Given the description of an element on the screen output the (x, y) to click on. 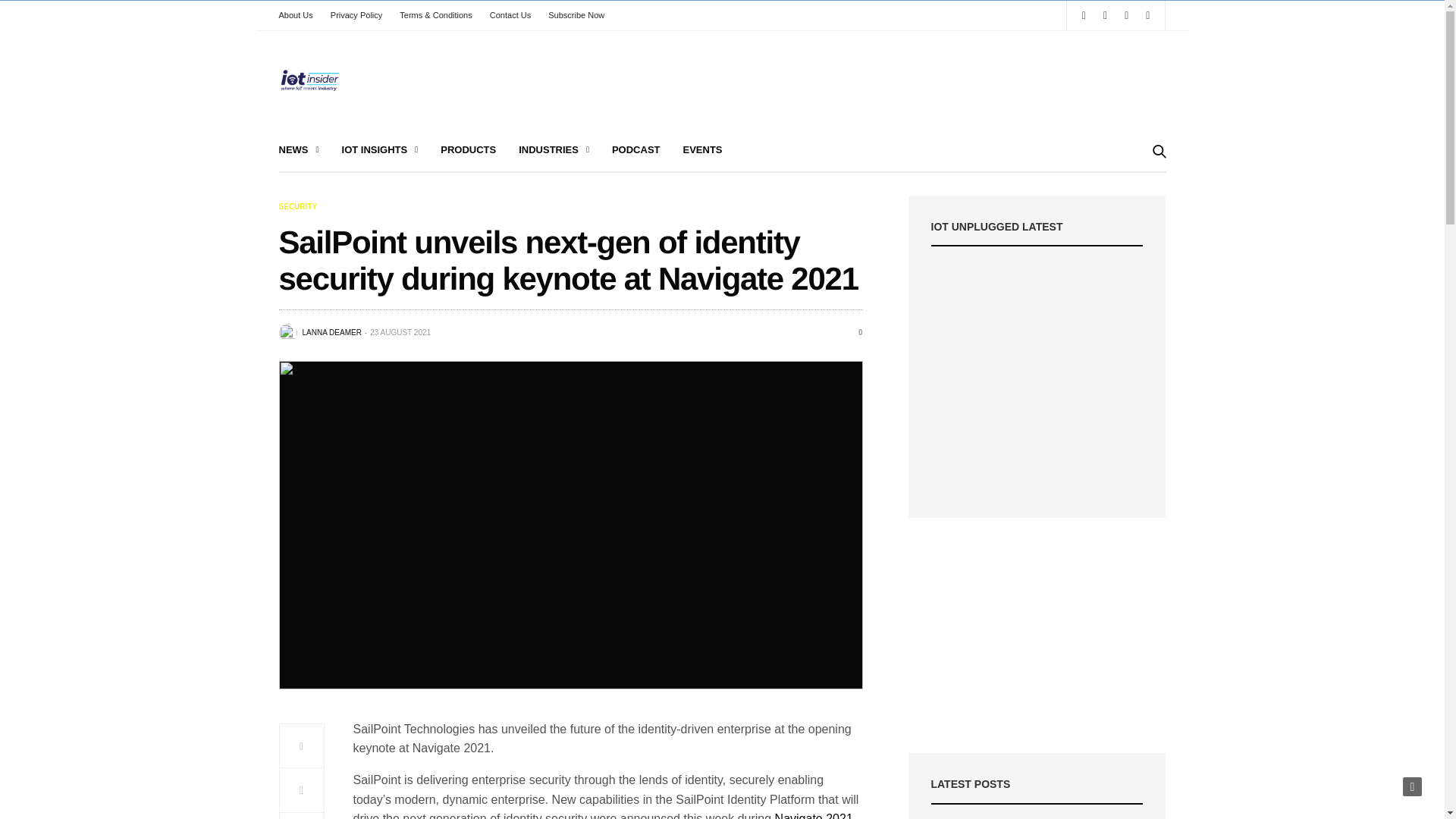
Subscribe Now (575, 15)
EVENTS (702, 150)
SECURITY (298, 206)
Posts by Lanna Deamer (331, 332)
Security (298, 206)
NEWS (298, 150)
Privacy Policy (356, 15)
Search (1137, 192)
Contact Us (509, 15)
